Given the description of an element on the screen output the (x, y) to click on. 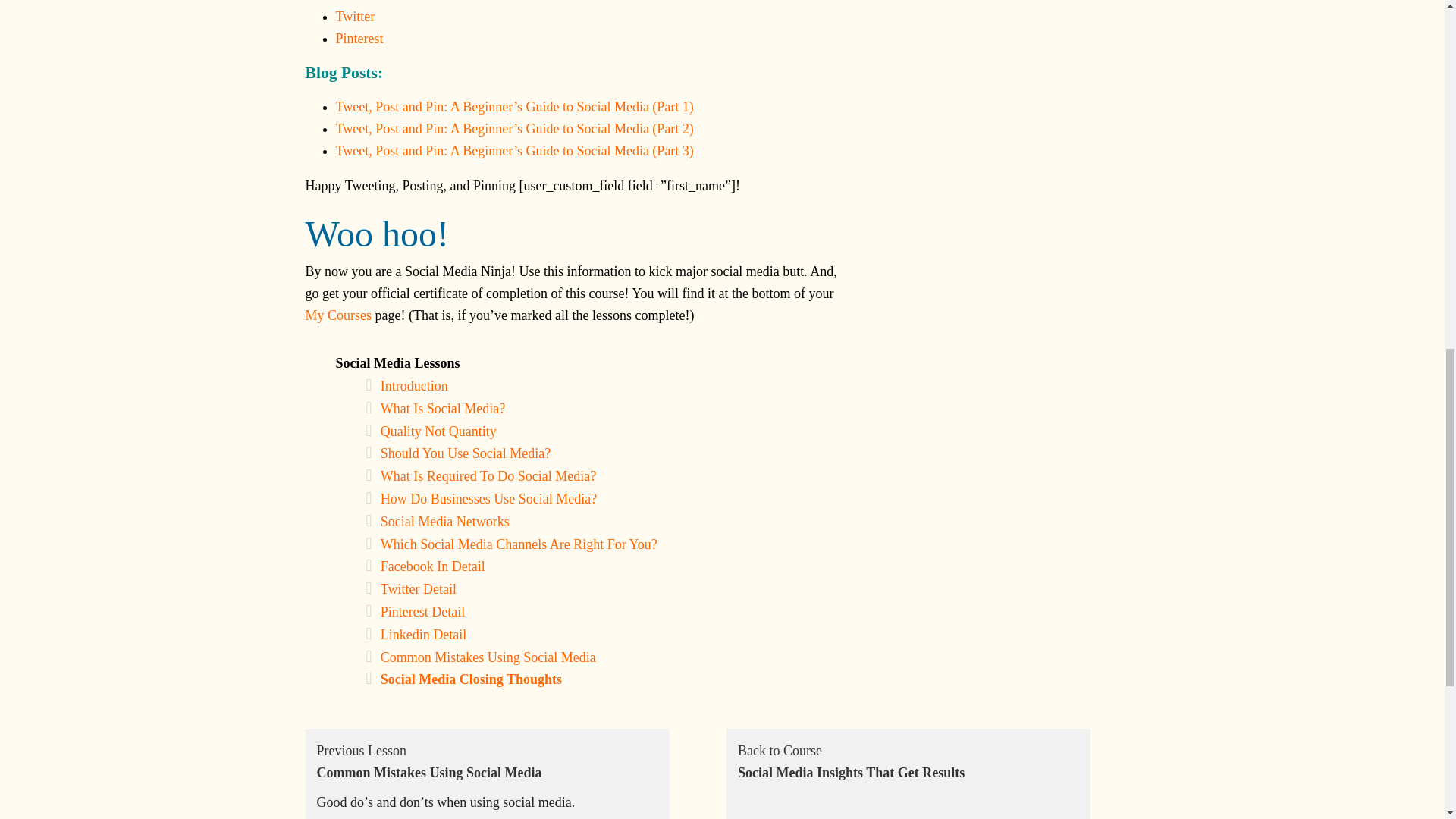
What Is Social Media? (442, 408)
Should You Use Social Media? (465, 453)
Quality Not Quantity (438, 431)
Twitter (354, 16)
Introduction (414, 385)
Facebook (361, 1)
What Is Required To Do Social Media? (487, 476)
Pinterest (358, 38)
My Courses (337, 314)
